Given the description of an element on the screen output the (x, y) to click on. 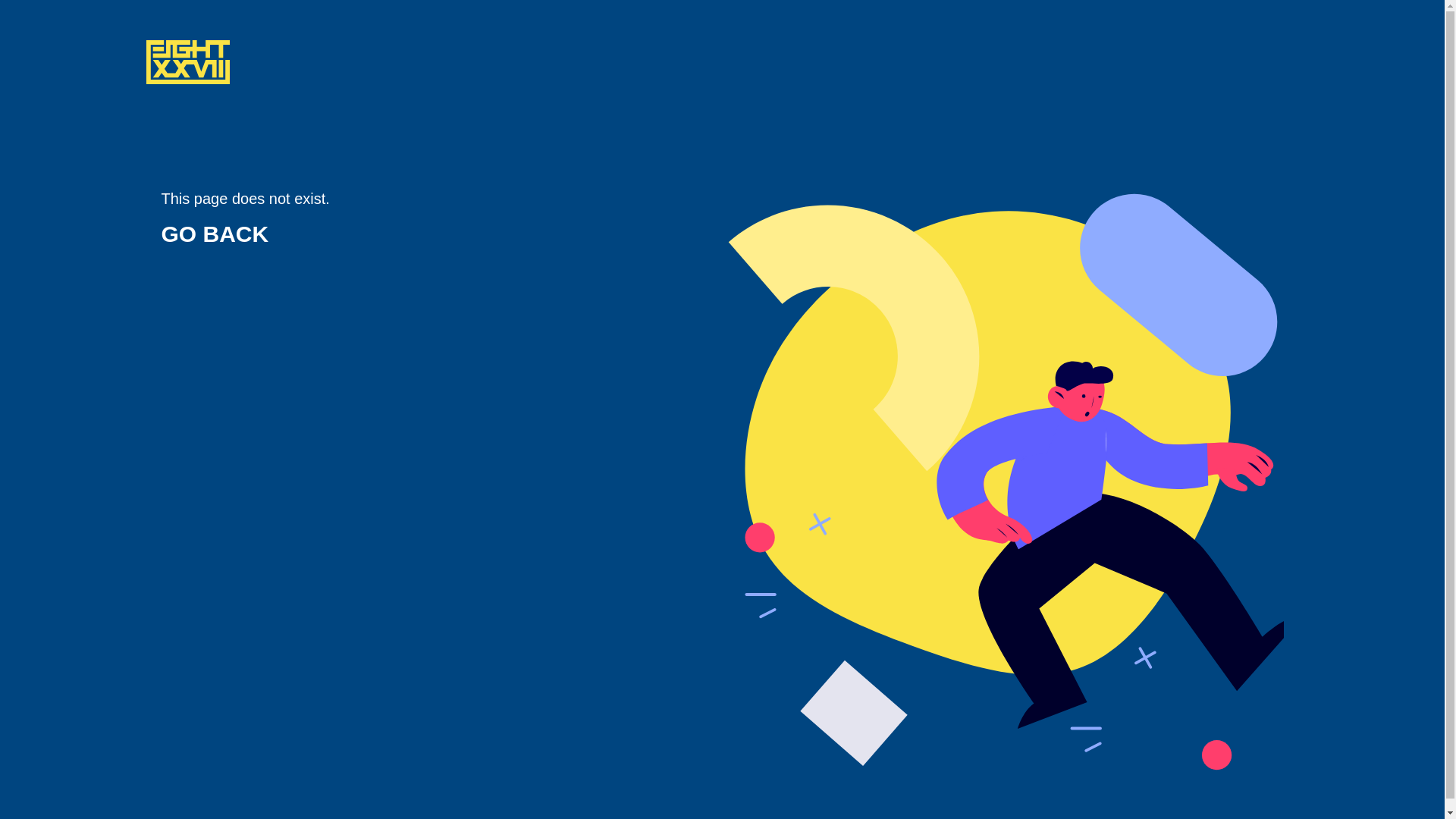
GO BACK Element type: text (214, 233)
